Given the description of an element on the screen output the (x, y) to click on. 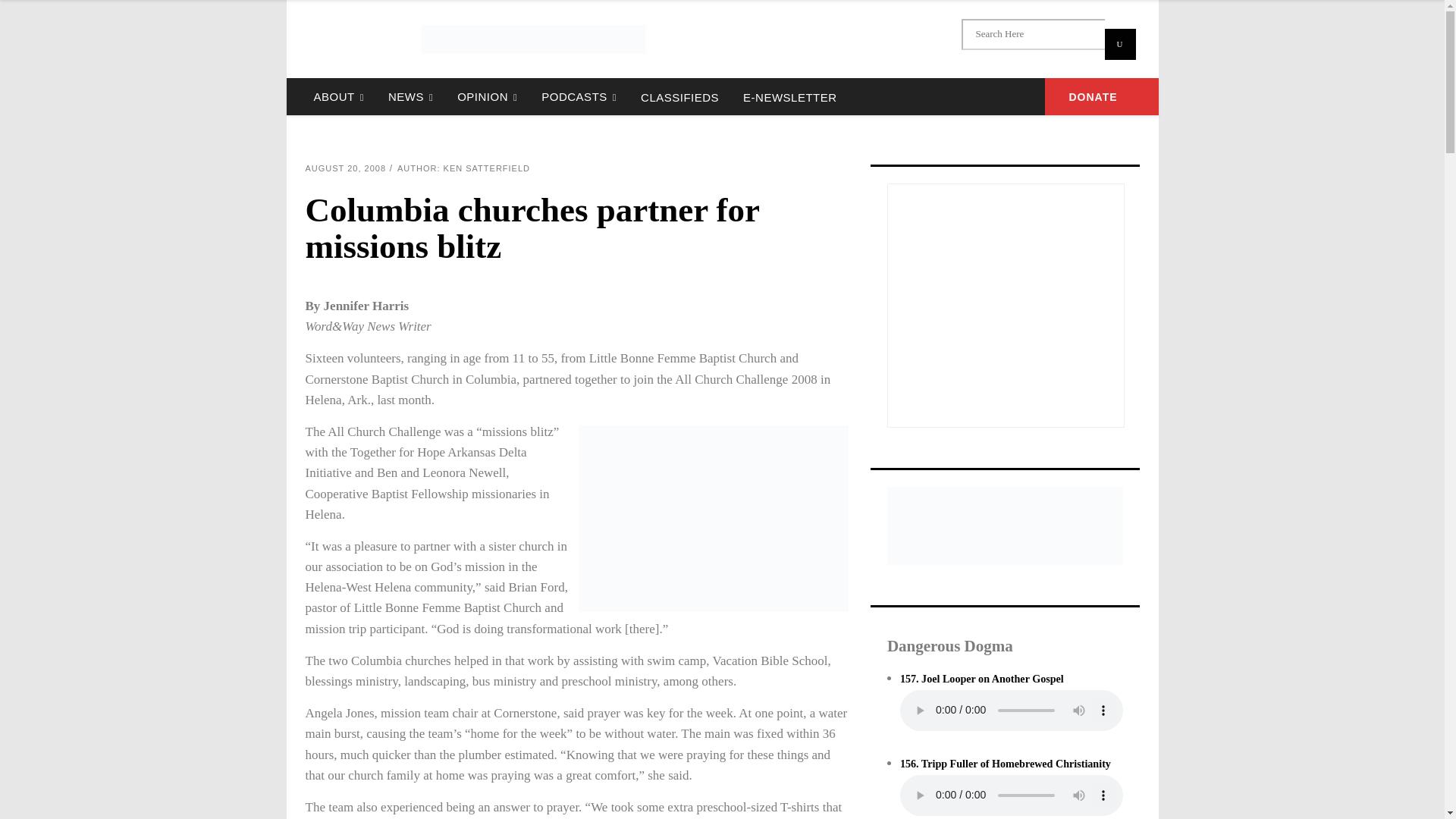
OPINION (487, 96)
NEWS (410, 96)
ABOUT (338, 96)
E-NEWSLETTER (789, 96)
U (1119, 43)
PODCASTS (578, 96)
CLASSIFIEDS (679, 96)
U (1119, 43)
U (1119, 43)
DONATE (1101, 96)
